Given the description of an element on the screen output the (x, y) to click on. 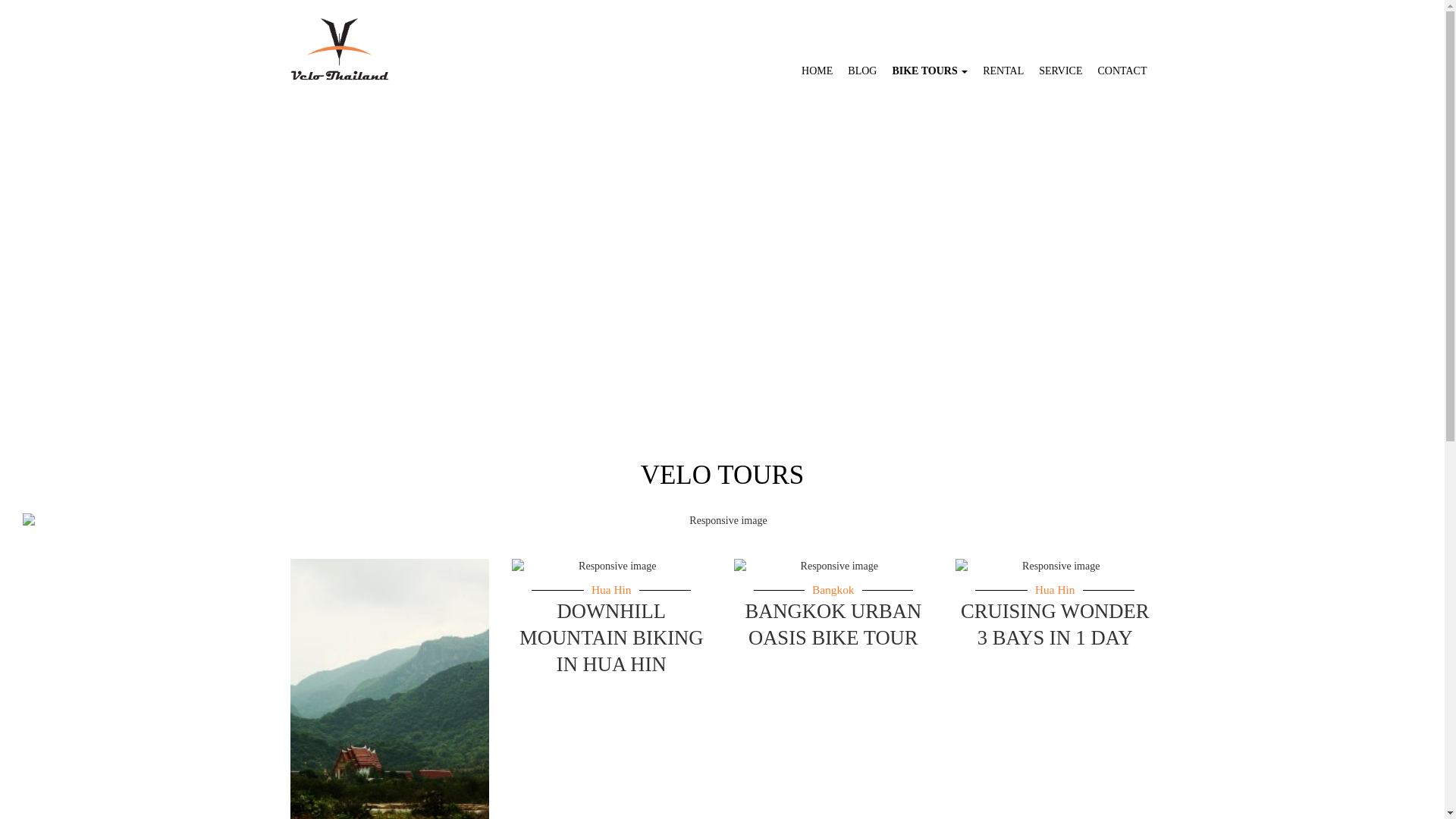
RENTAL (1002, 71)
CONTACT (1122, 71)
BIKE TOURS (929, 71)
HOME (816, 71)
SERVICE (1059, 71)
BLOG (861, 71)
